Given the description of an element on the screen output the (x, y) to click on. 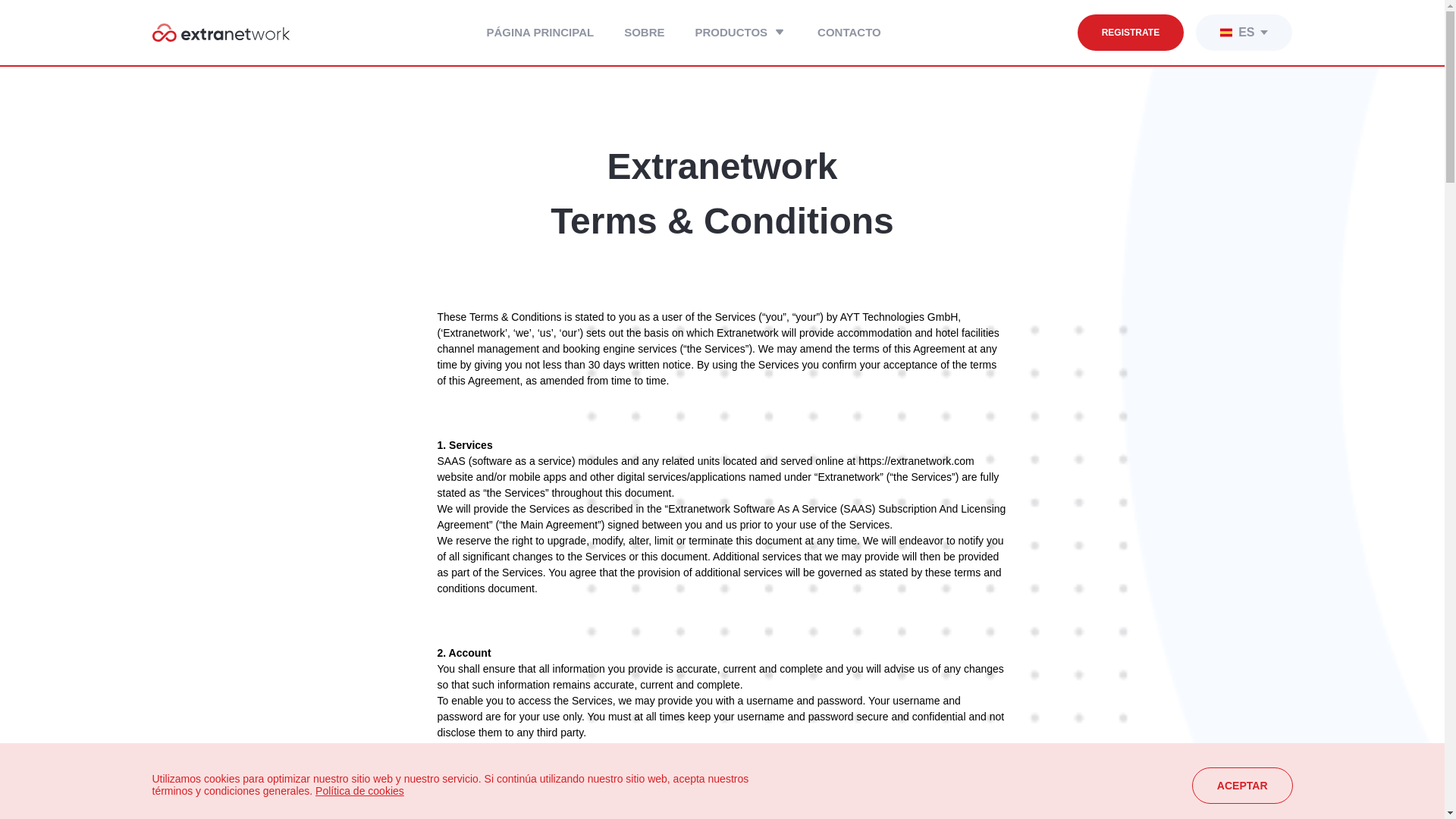
ES (1225, 32)
ExtraNetwork (220, 32)
REGISTRATE (1130, 32)
PRODUCTOS (741, 32)
CONTACTO (848, 32)
Sobre (643, 32)
ES (1243, 32)
Contacto (848, 32)
ACEPTAR (1242, 785)
SOBRE (643, 32)
